Given the description of an element on the screen output the (x, y) to click on. 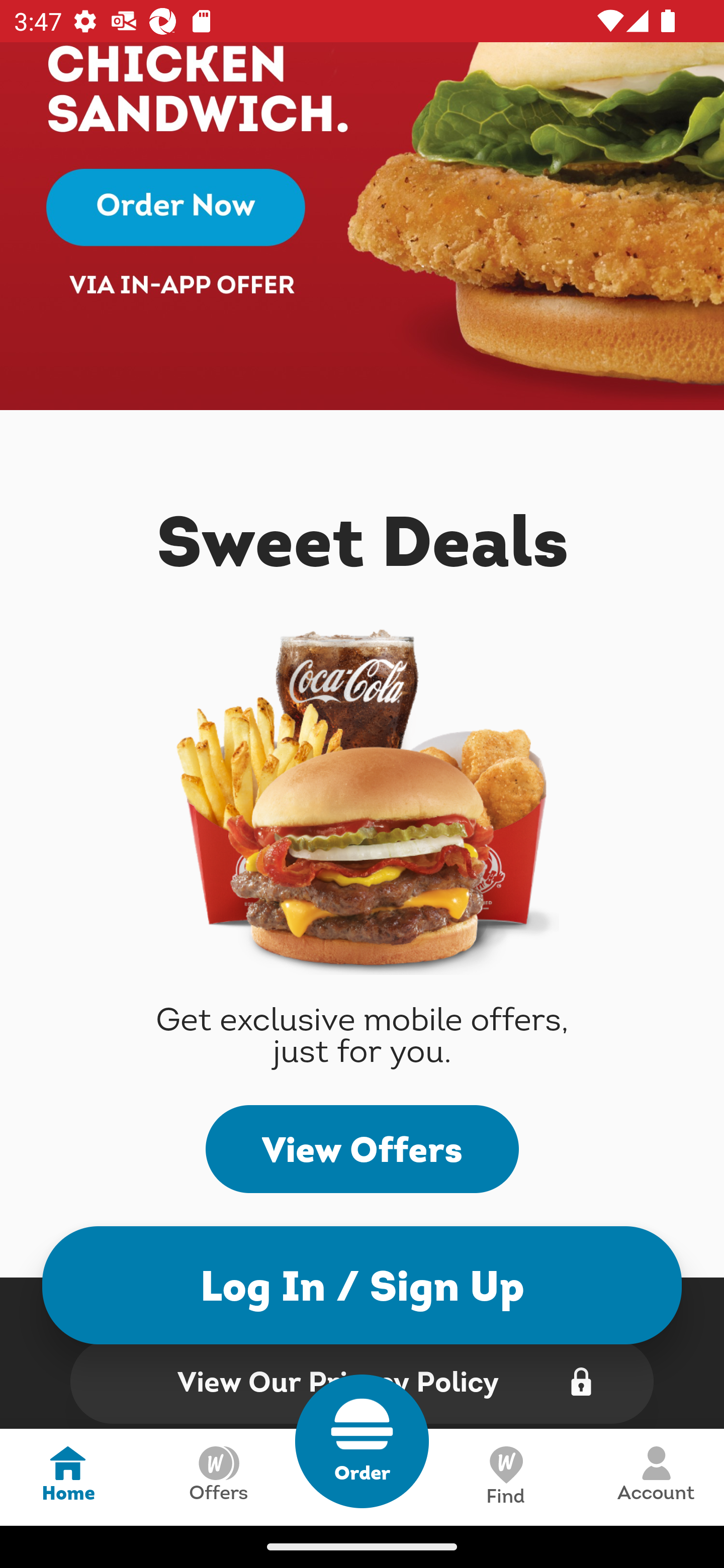
Campaign image (362, 226)
View Offers (362, 1149)
Log In / Sign Up (361, 1284)
Order,3 of 5 Order (361, 1441)
Home,1 of 5 Home (68, 1476)
Rewards,2 of 5 Offers Offers (218, 1476)
Scan,4 of 5 Find Find (505, 1476)
Account,5 of 5 Account (655, 1476)
